Given the description of an element on the screen output the (x, y) to click on. 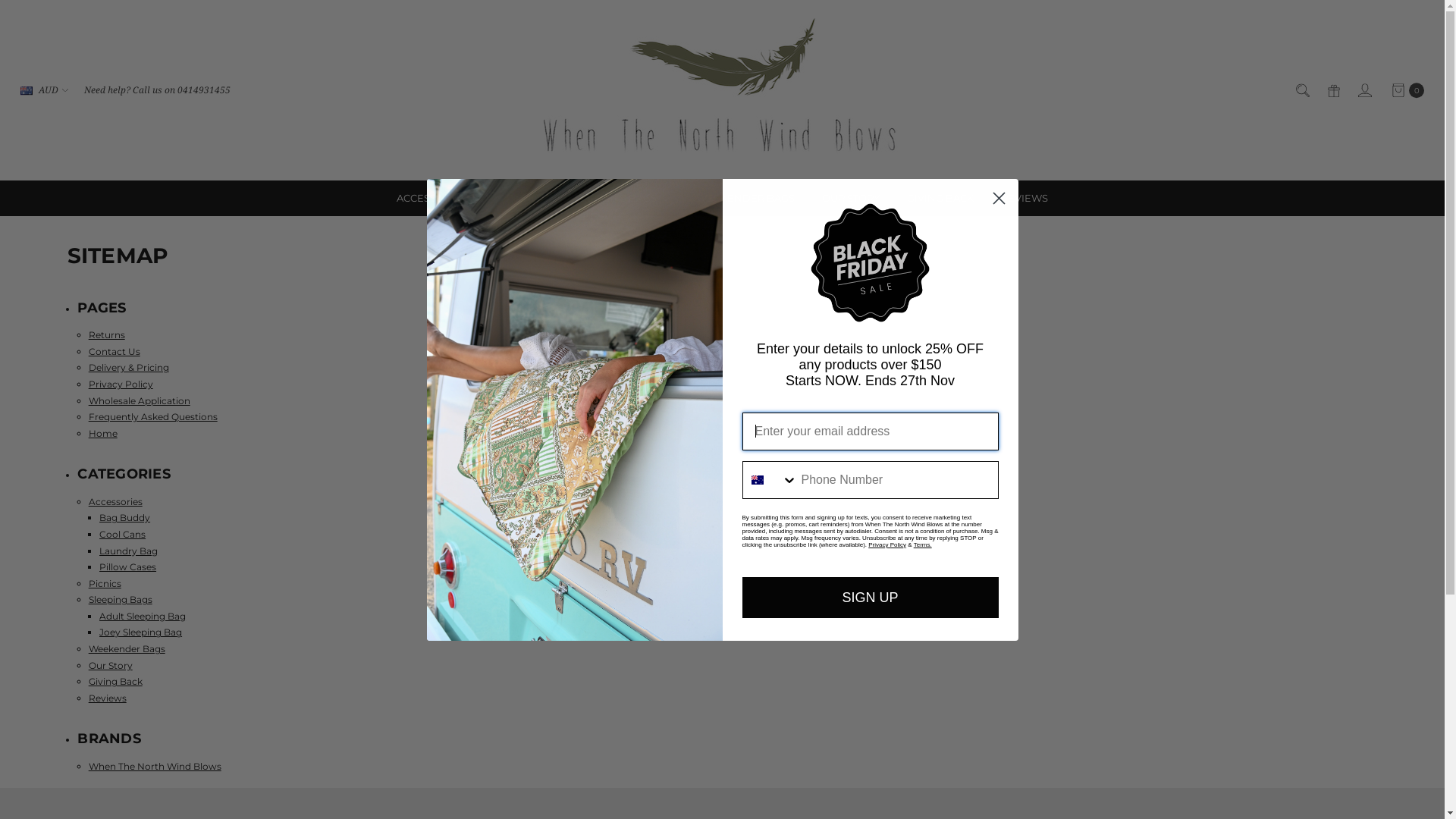
SLEEPING BAGS Element type: text (621, 198)
Giving Back Element type: text (115, 681)
Need help? Call us on 0414931455 Element type: text (157, 89)
Home Element type: text (102, 433)
Our Story Element type: text (110, 665)
OUR STORY Element type: text (850, 198)
Privacy Policy Element type: text (887, 544)
When The North Wind Blows Element type: hover (721, 90)
Accessories Element type: text (115, 501)
Reviews Element type: text (107, 697)
REVIEWS Element type: text (1024, 198)
Wholesale Application Element type: text (139, 400)
Laundry Bag Element type: text (128, 549)
GIVING BACK Element type: text (940, 198)
Pillow Cases Element type: text (127, 566)
Frequently Asked Questions Element type: text (152, 416)
Terms. Element type: text (922, 544)
Privacy Policy Element type: text (120, 383)
Cool Cans Element type: text (122, 533)
Sleeping Bags Element type: text (120, 599)
Picnics Element type: text (104, 583)
Bag Buddy Element type: text (124, 517)
Joey Sleeping Bag Element type: text (140, 631)
Australia Element type: hover (756, 479)
ACCESSORIES Element type: text (437, 198)
Adult Sleeping Bag Element type: text (142, 615)
Returns Element type: text (106, 334)
Submit Element type: text (28, 9)
AUD Element type: text (44, 89)
Weekender Bags Element type: text (126, 648)
0 Element type: text (1406, 89)
WEEKENDER BAGS Element type: text (745, 198)
Contact Us Element type: text (114, 351)
PICNICS Element type: text (526, 198)
Delivery & Pricing Element type: text (128, 367)
When The North Wind Blows Element type: text (154, 765)
SIGN UP Element type: text (869, 596)
